Given the description of an element on the screen output the (x, y) to click on. 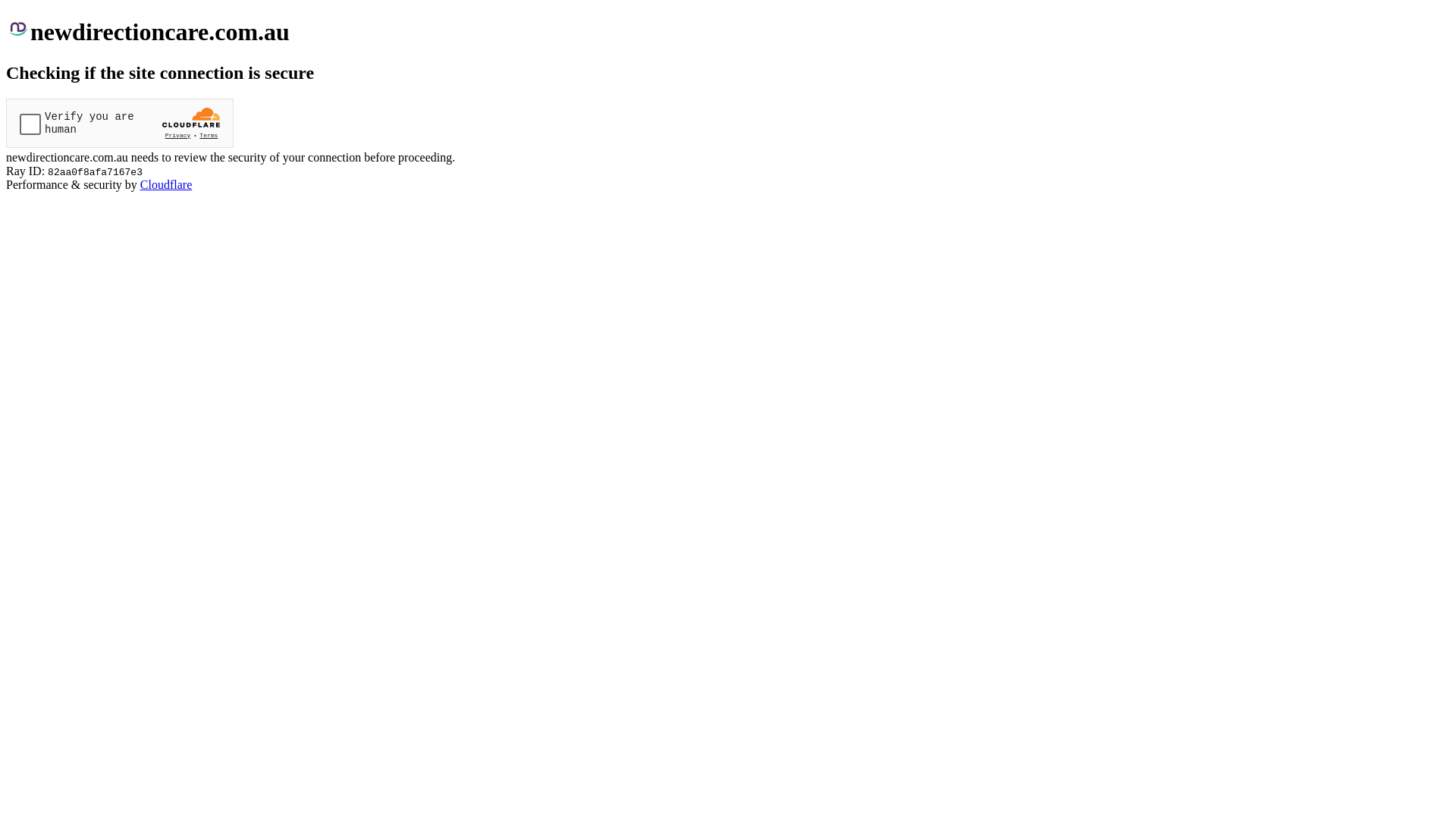
Cloudflare Element type: text (165, 184)
Widget containing a Cloudflare security challenge Element type: hover (119, 122)
